Given the description of an element on the screen output the (x, y) to click on. 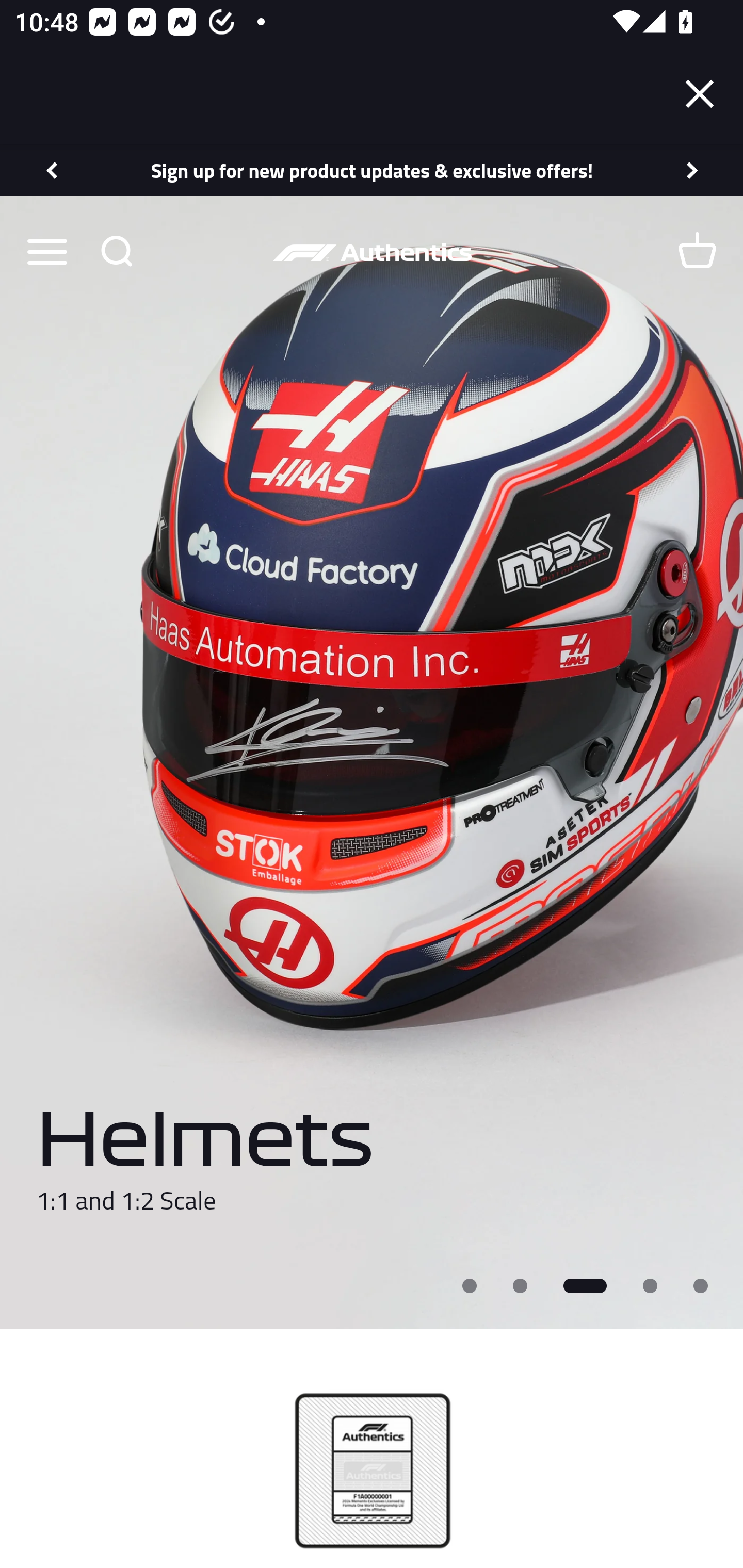
Close (699, 93)
Previous (50, 170)
Next (693, 170)
Open navigation menu (46, 251)
Open search (115, 251)
Open cart (696, 251)
F1 Authentics F1 Authentics F1 Authentics (372, 251)
Go to item 1 (469, 1285)
Go to item 2 (519, 1285)
Go to item 3 (585, 1285)
Go to item 4 (650, 1285)
Go to item 5 (701, 1285)
